Given the description of an element on the screen output the (x, y) to click on. 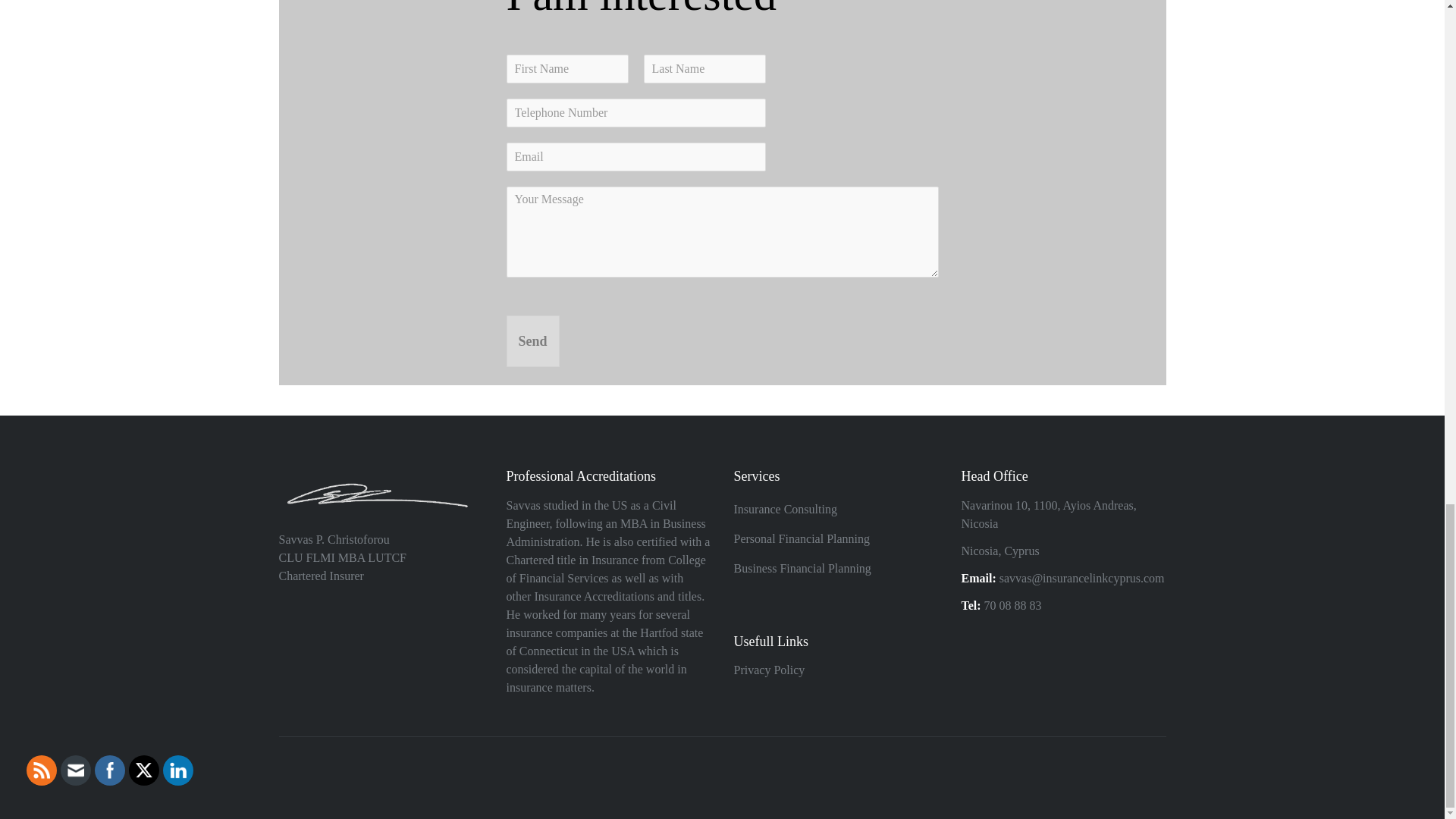
Follow by Email (75, 770)
LinkedIn (178, 770)
Twitter (143, 770)
RSS (41, 770)
Facebook (109, 770)
